Given the description of an element on the screen output the (x, y) to click on. 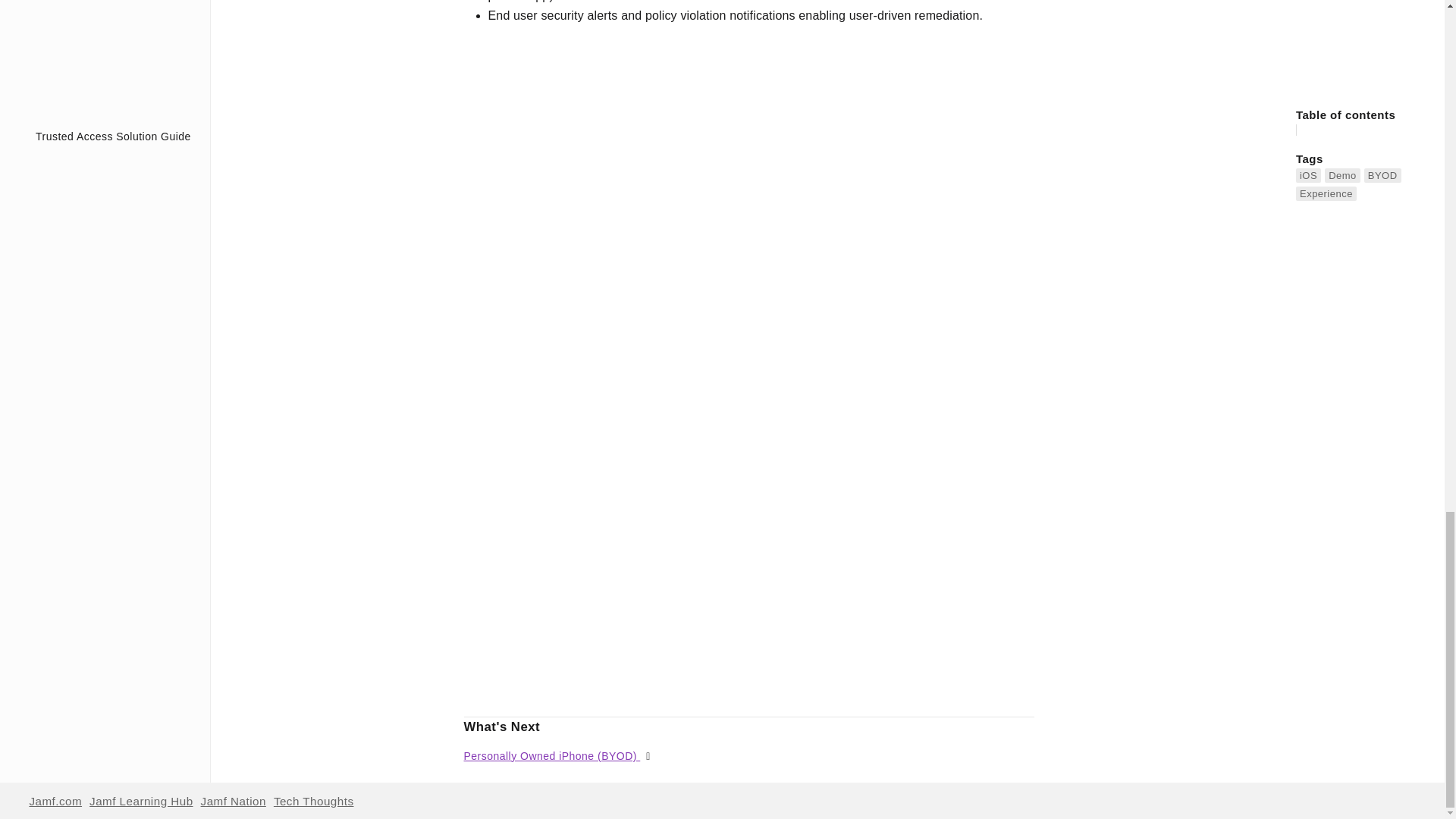
Tech Thoughts (313, 800)
Jamf Nation (233, 800)
Jamf Learning Hub (140, 800)
Jamf.com (55, 800)
